Given the description of an element on the screen output the (x, y) to click on. 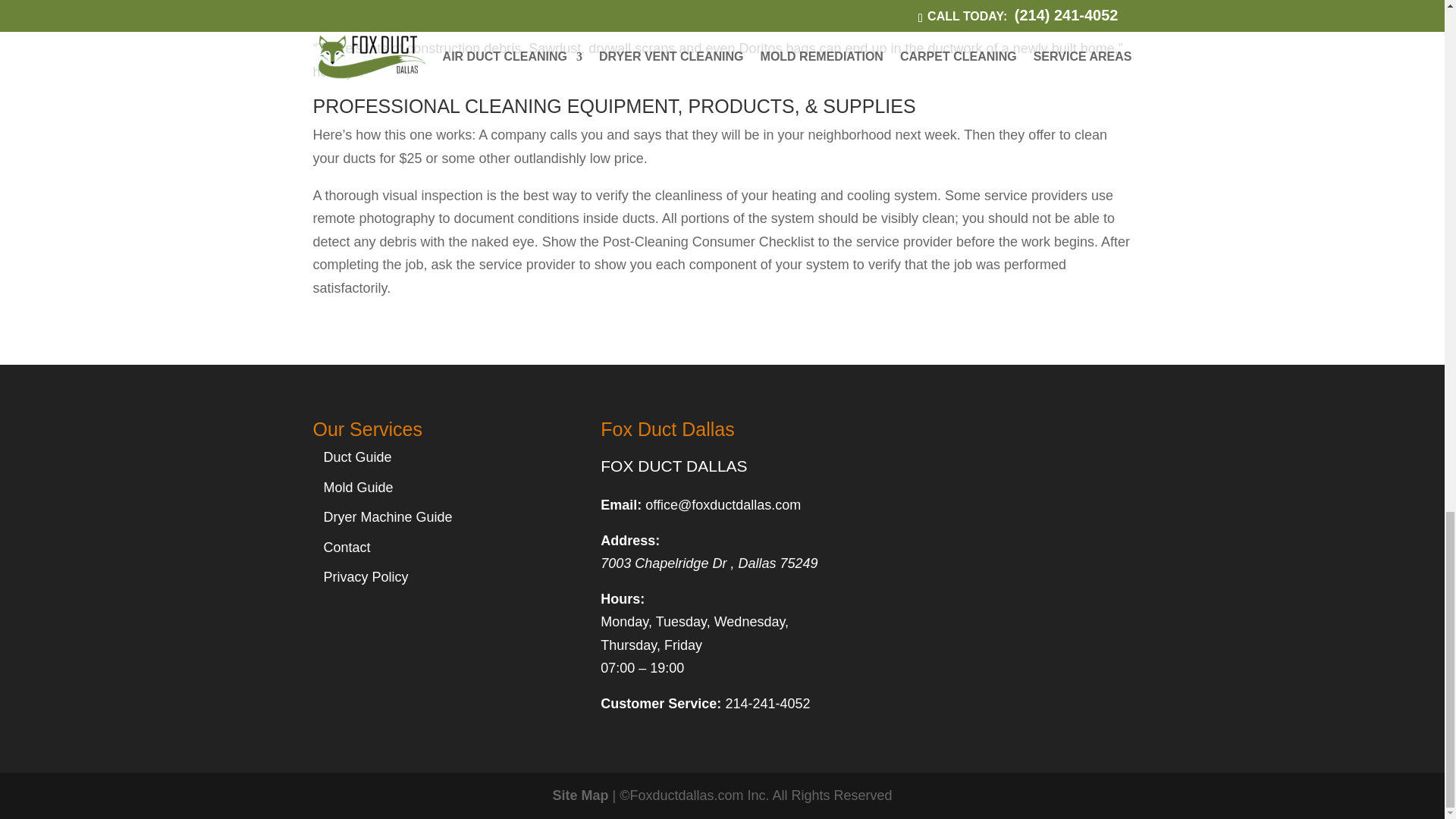
Privacy Policy (365, 576)
Dryer Machine Guide (387, 516)
Contact (346, 547)
Mold Guide (358, 486)
Duct Guide (357, 457)
FOX DUCT DALLAS (672, 466)
